Given the description of an element on the screen output the (x, y) to click on. 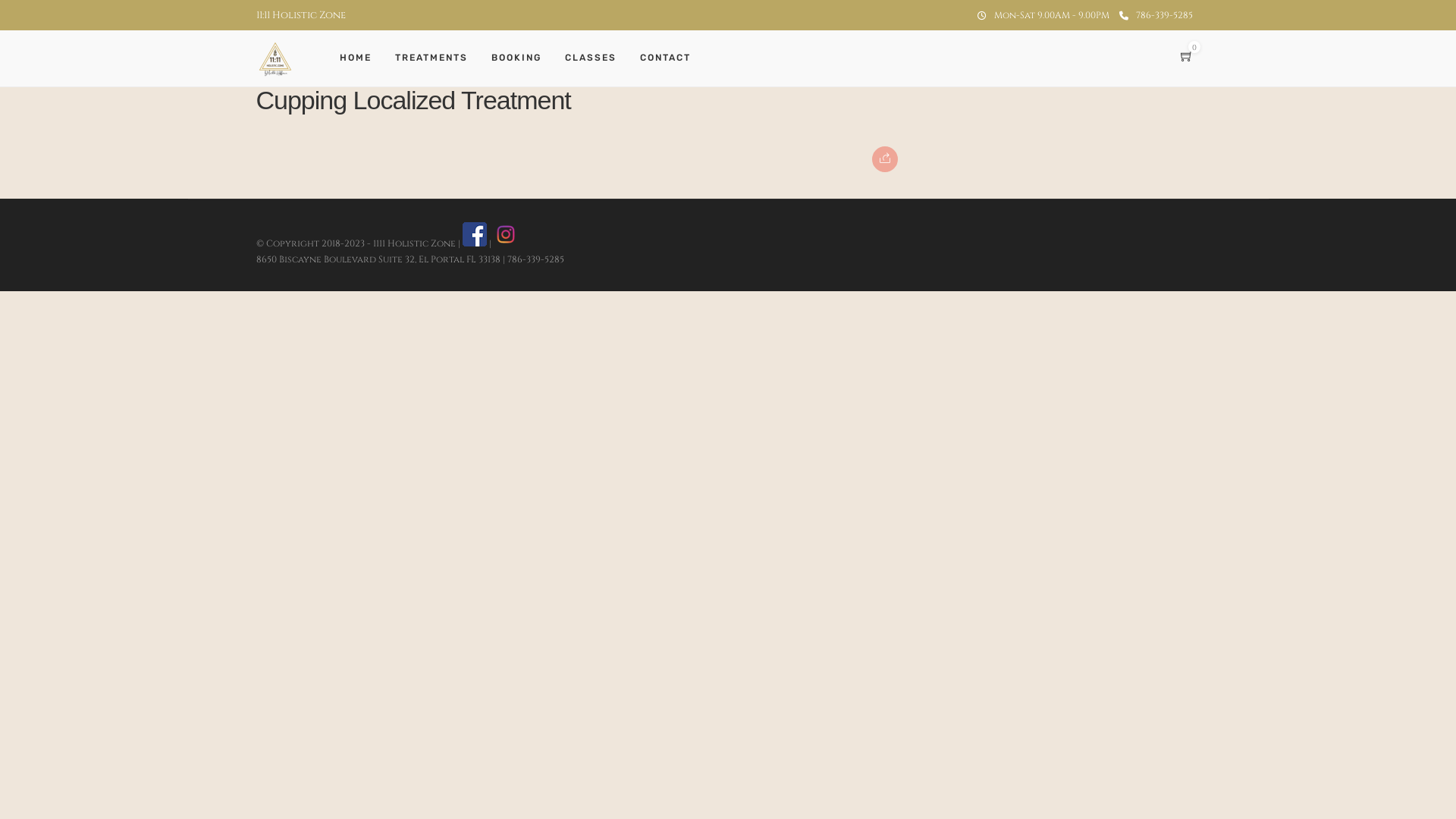
TREATMENTS Element type: text (437, 58)
| Element type: text (477, 243)
CONTACT Element type: text (671, 58)
786-339-5285 Element type: text (1155, 15)
11:11 Holistic Zone Element type: text (300, 14)
BOOKING Element type: text (522, 58)
View Cart Element type: hover (1185, 57)
CLASSES Element type: text (596, 58)
HOME Element type: text (361, 58)
JULY 25, 2020 Element type: text (295, 68)
